Given the description of an element on the screen output the (x, y) to click on. 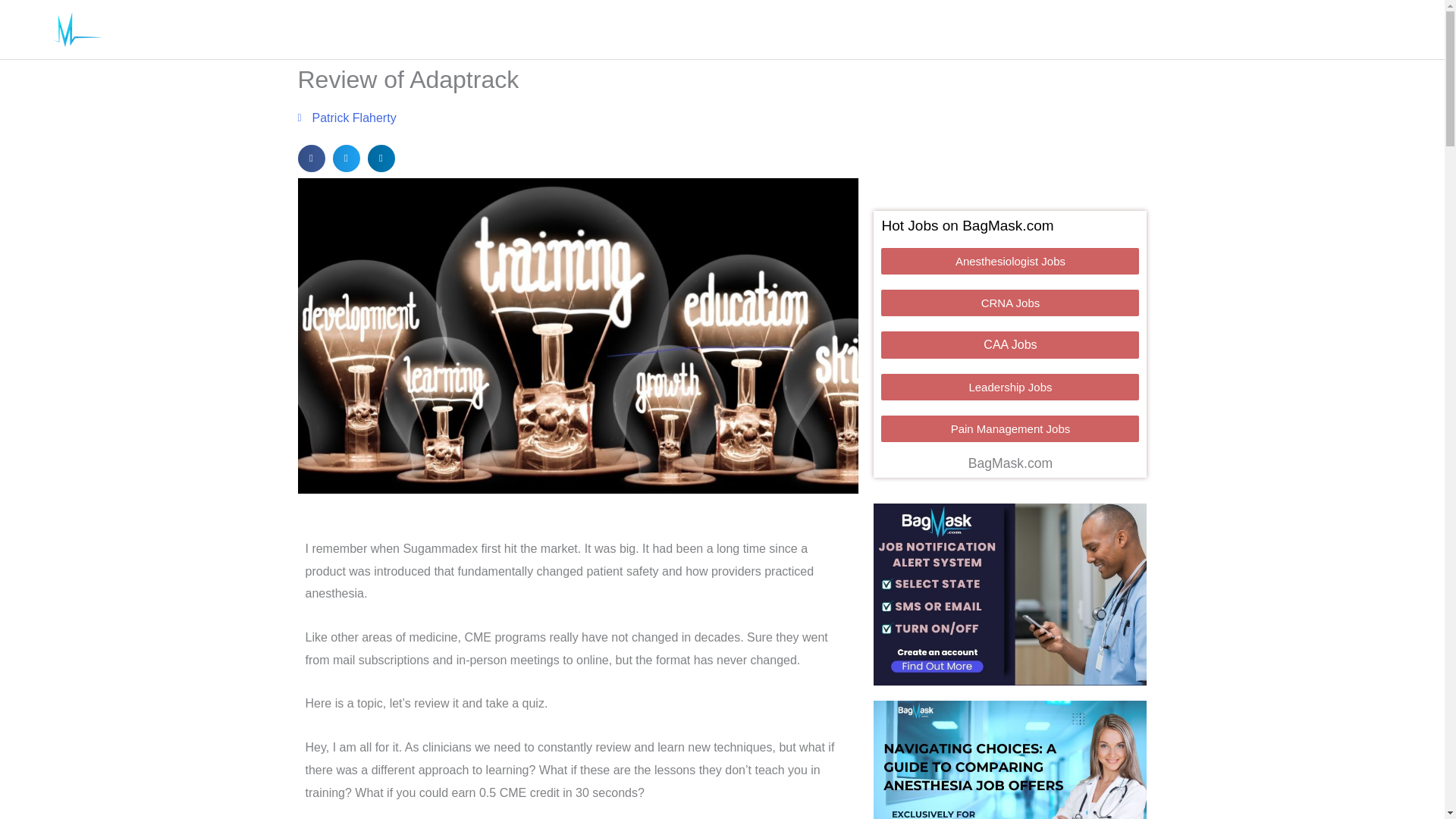
Career Navigation (245, 29)
Jobs (154, 29)
Student Loans (626, 29)
CV Templates (433, 29)
Scholarship (526, 29)
Patrick Flaherty (346, 118)
